Given the description of an element on the screen output the (x, y) to click on. 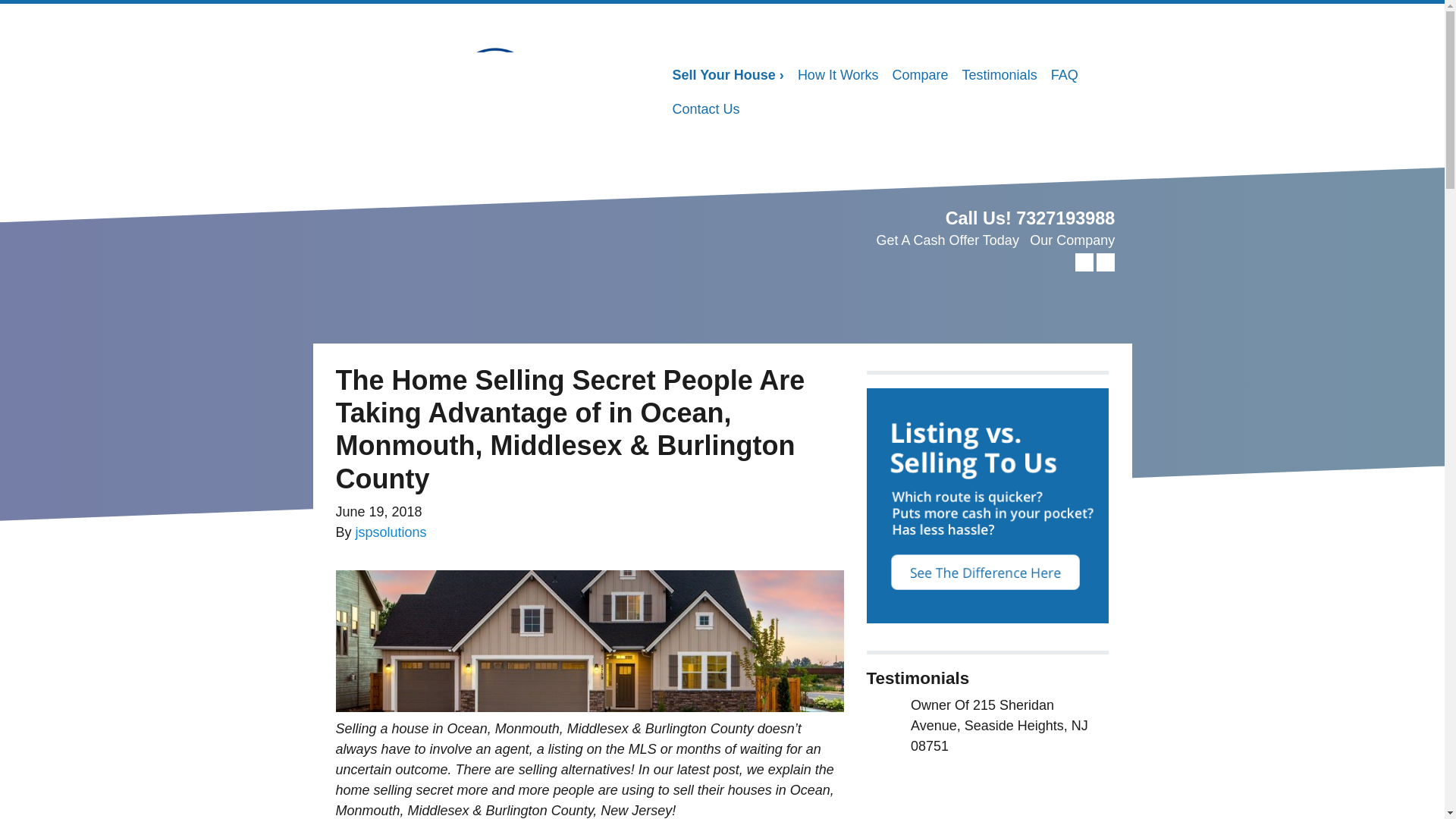
Get A Cash Offer Today (946, 240)
Compare (920, 75)
FAQ (1063, 75)
Testimonials (999, 75)
How It Works (837, 75)
jspsolutions (390, 531)
YouTube (1105, 262)
Contact Us (705, 109)
Our Company (1072, 240)
Facebook (1084, 262)
